Given the description of an element on the screen output the (x, y) to click on. 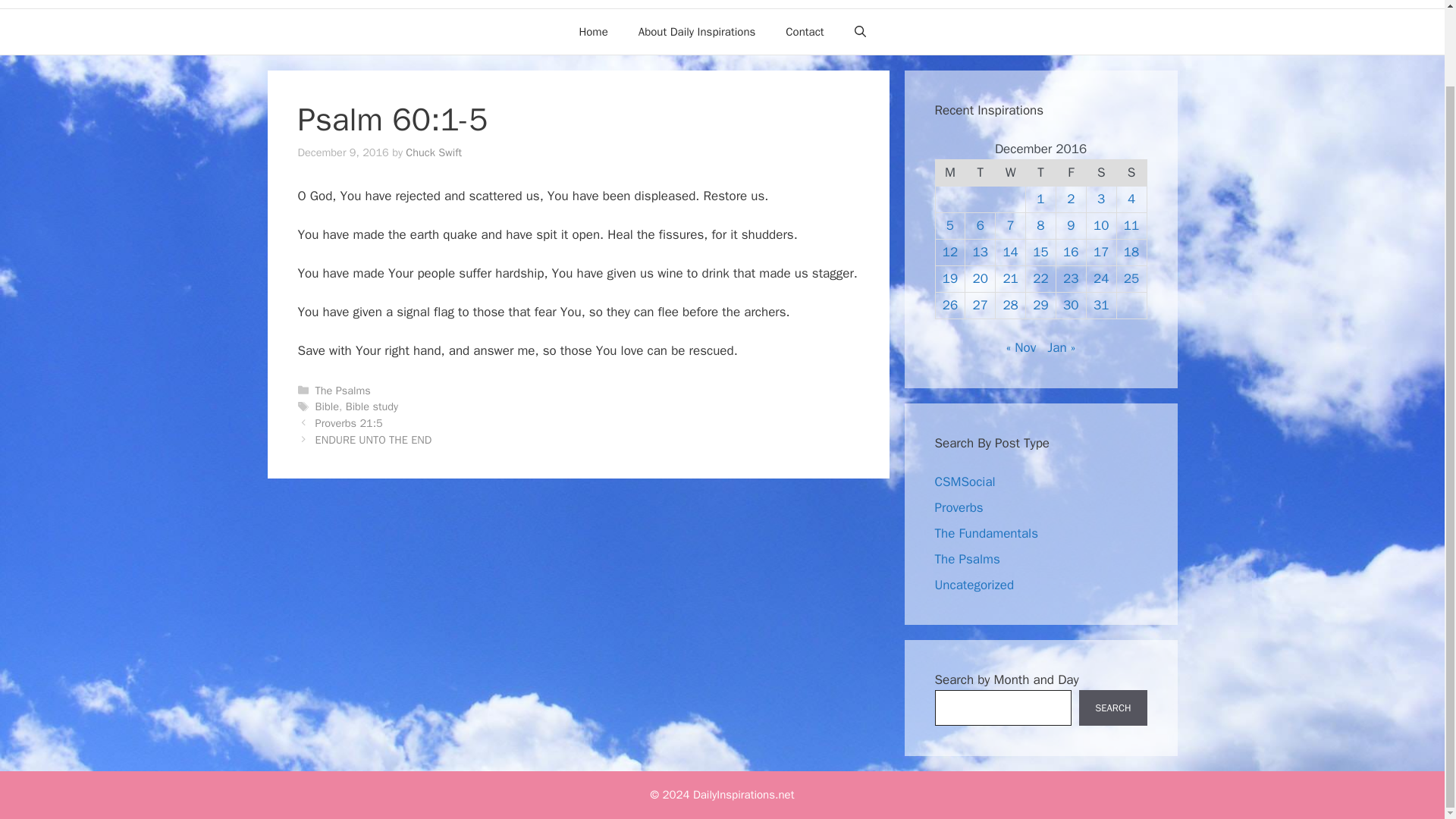
Home (593, 31)
Monday (949, 171)
12 (950, 252)
14 (1010, 252)
16 (1070, 252)
21 (1010, 278)
Wednesday (1010, 171)
18 (1131, 252)
23 (1070, 278)
Sunday (1131, 171)
